Given the description of an element on the screen output the (x, y) to click on. 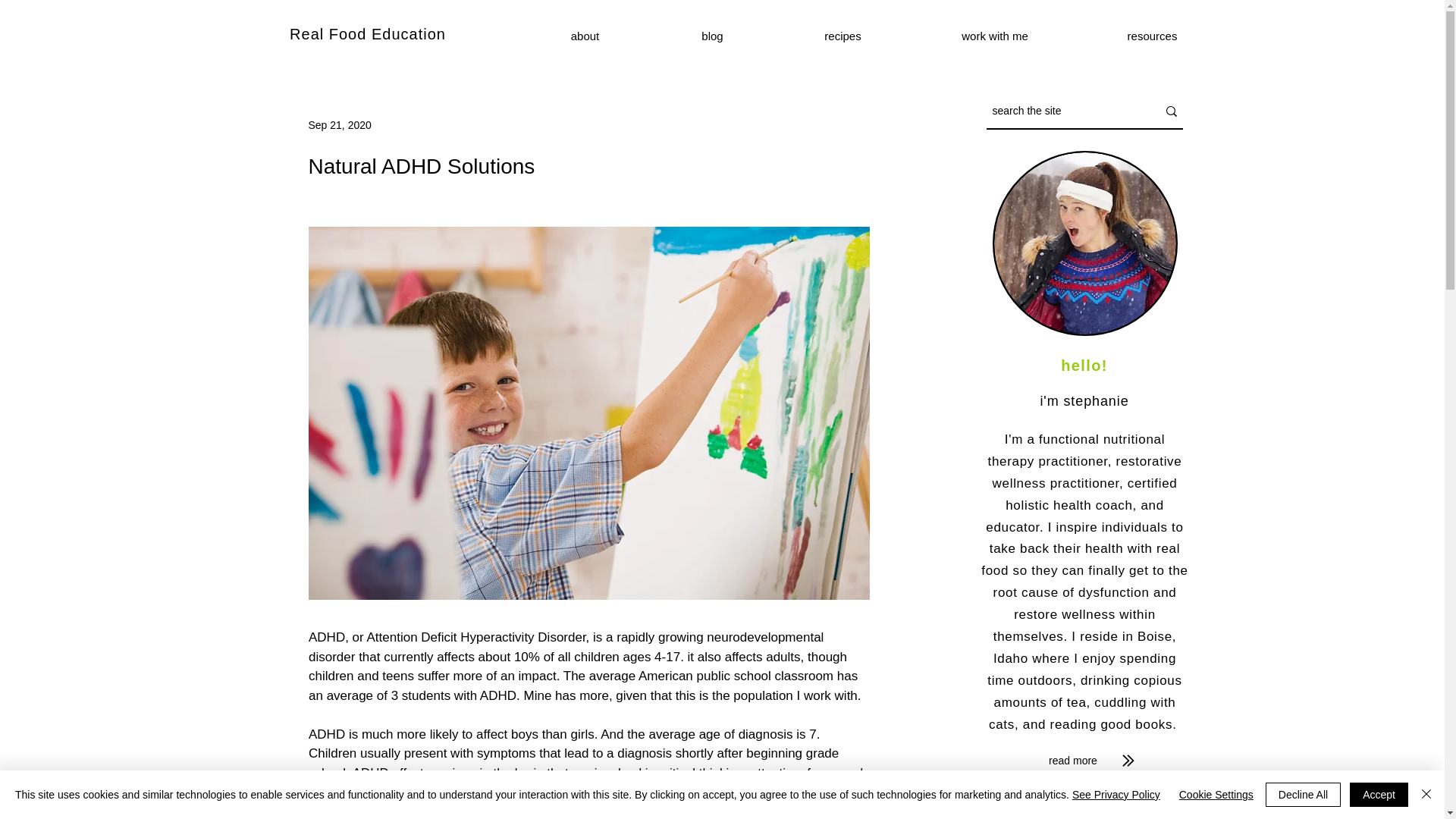
recipes (842, 36)
Real Food Education (367, 33)
See Privacy Policy (1115, 794)
work with me (994, 36)
resources (1151, 36)
about (584, 36)
read more (1072, 760)
blog (712, 36)
Decline All (1302, 794)
Accept (1378, 794)
Sep 21, 2020 (339, 123)
